Given the description of an element on the screen output the (x, y) to click on. 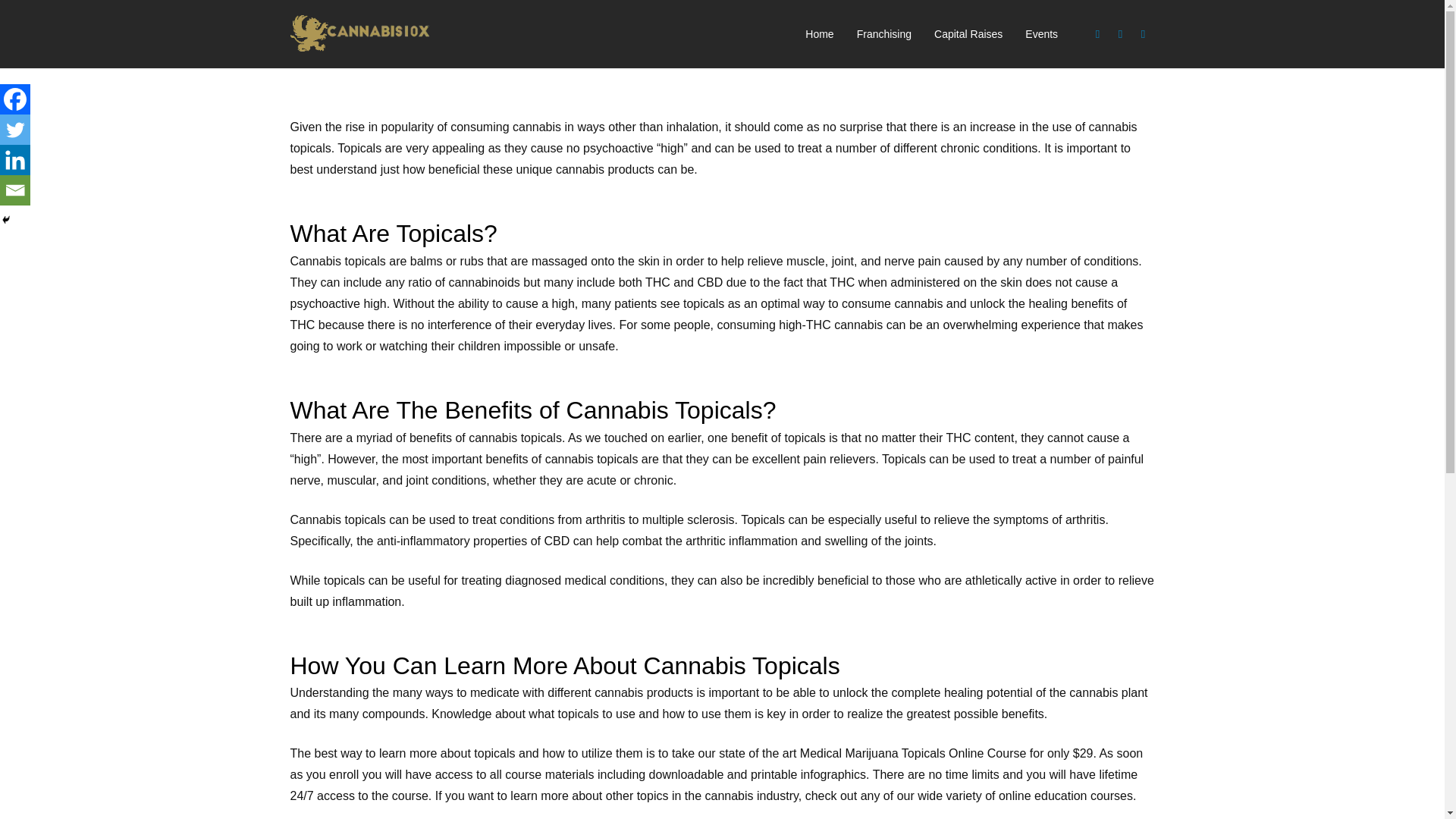
Capital Raises (968, 34)
Events (1040, 34)
Facebook (15, 99)
Franchising (884, 34)
Facebook (1097, 33)
Twitter (1120, 33)
Home (818, 34)
Twitter (15, 129)
LinkedIn (1143, 33)
Hide (5, 219)
